Given the description of an element on the screen output the (x, y) to click on. 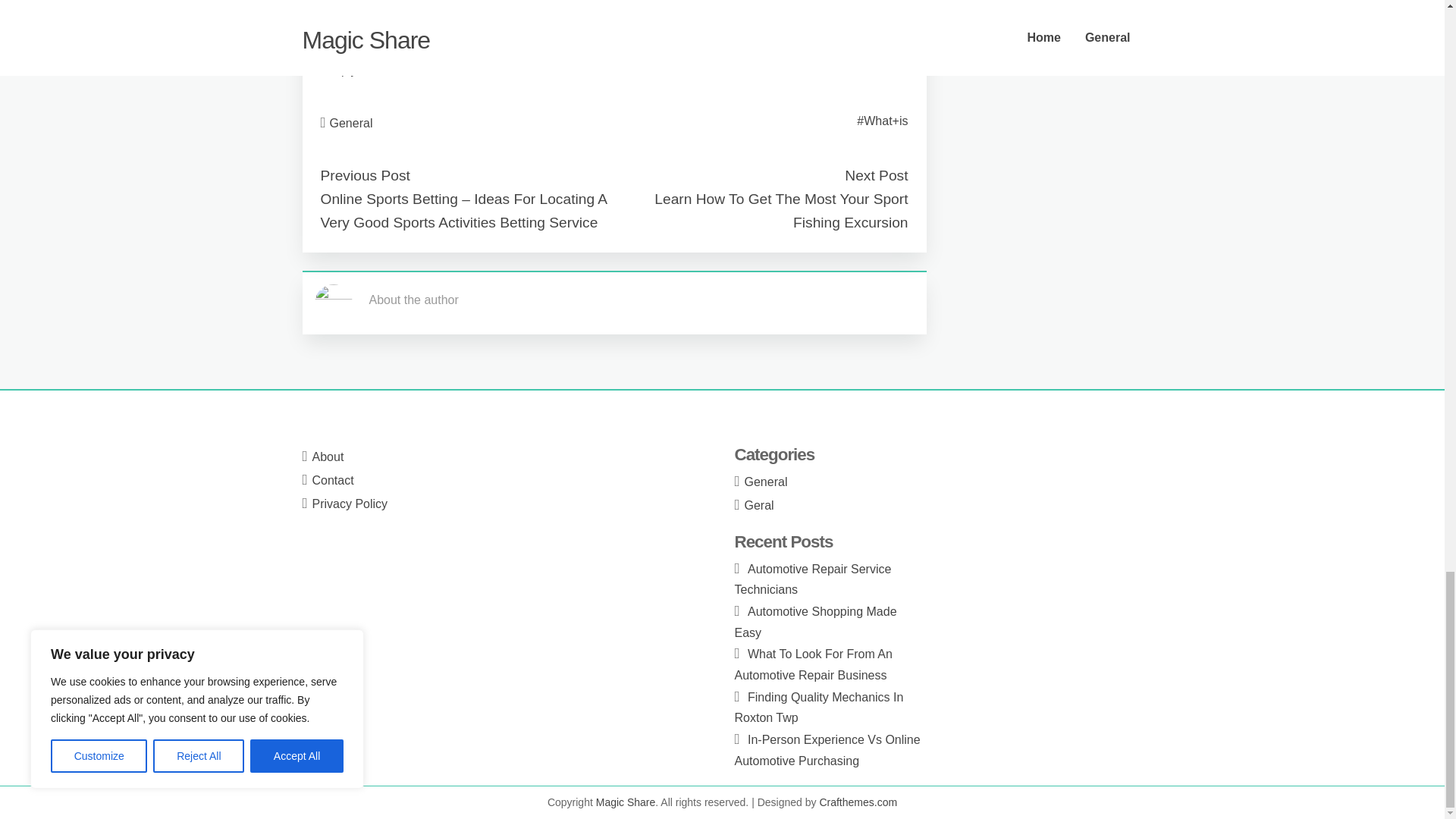
Simply click the next document (403, 69)
Previous Post (364, 175)
Learn How To Get The Most Your Sport Fishing Excursion (780, 210)
Next Post (875, 175)
General (351, 123)
Going to okadigroup.com (387, 31)
